Given the description of an element on the screen output the (x, y) to click on. 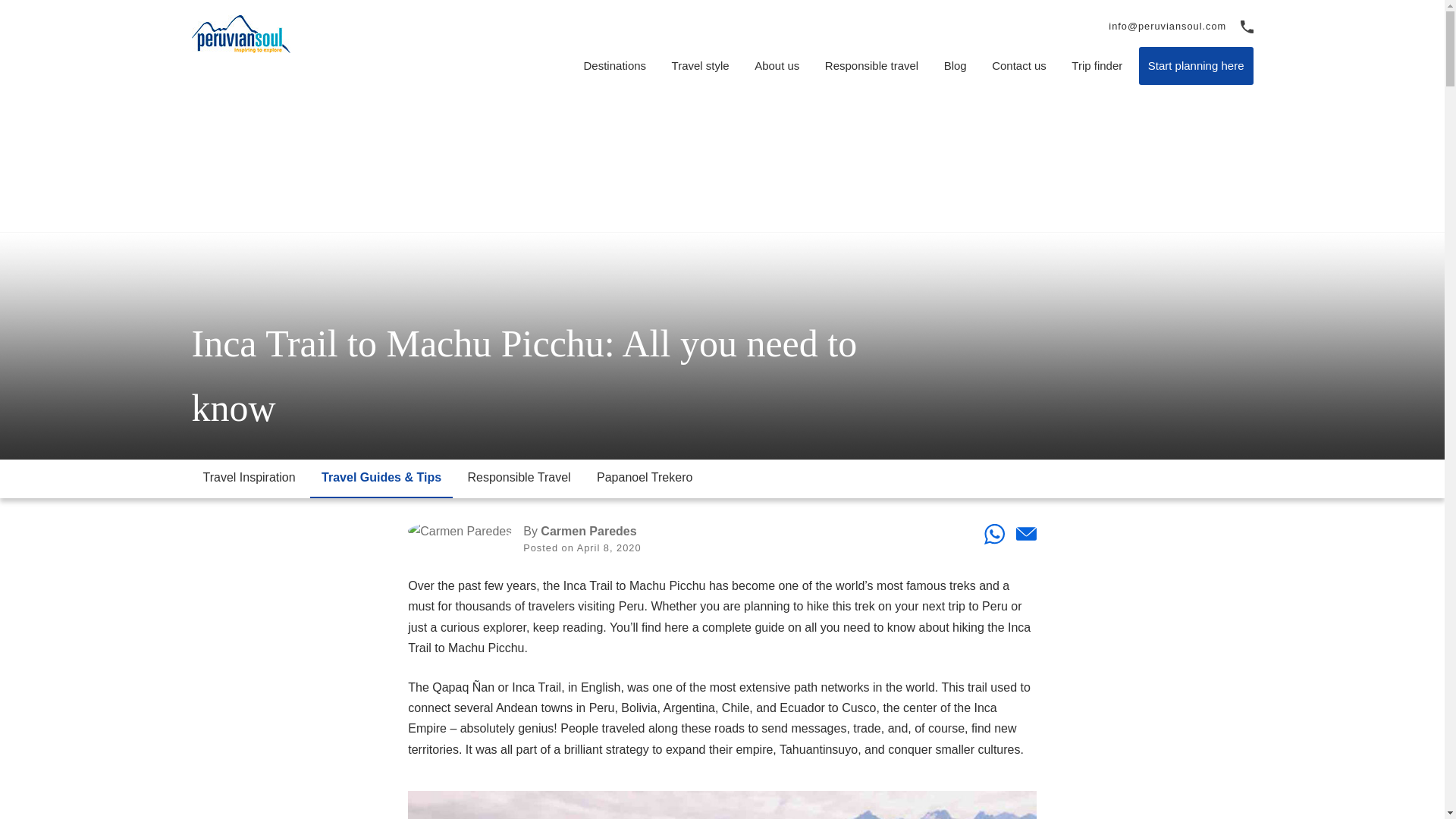
April 8, 2020 (609, 549)
About us (776, 65)
Responsible travel (871, 65)
Contact us (1018, 65)
Trip finder (1096, 65)
Carmen Paredes (588, 532)
Travel style (700, 65)
Travel Inspiration (247, 477)
Responsible Travel (519, 477)
Start planning here (1195, 65)
